Given the description of an element on the screen output the (x, y) to click on. 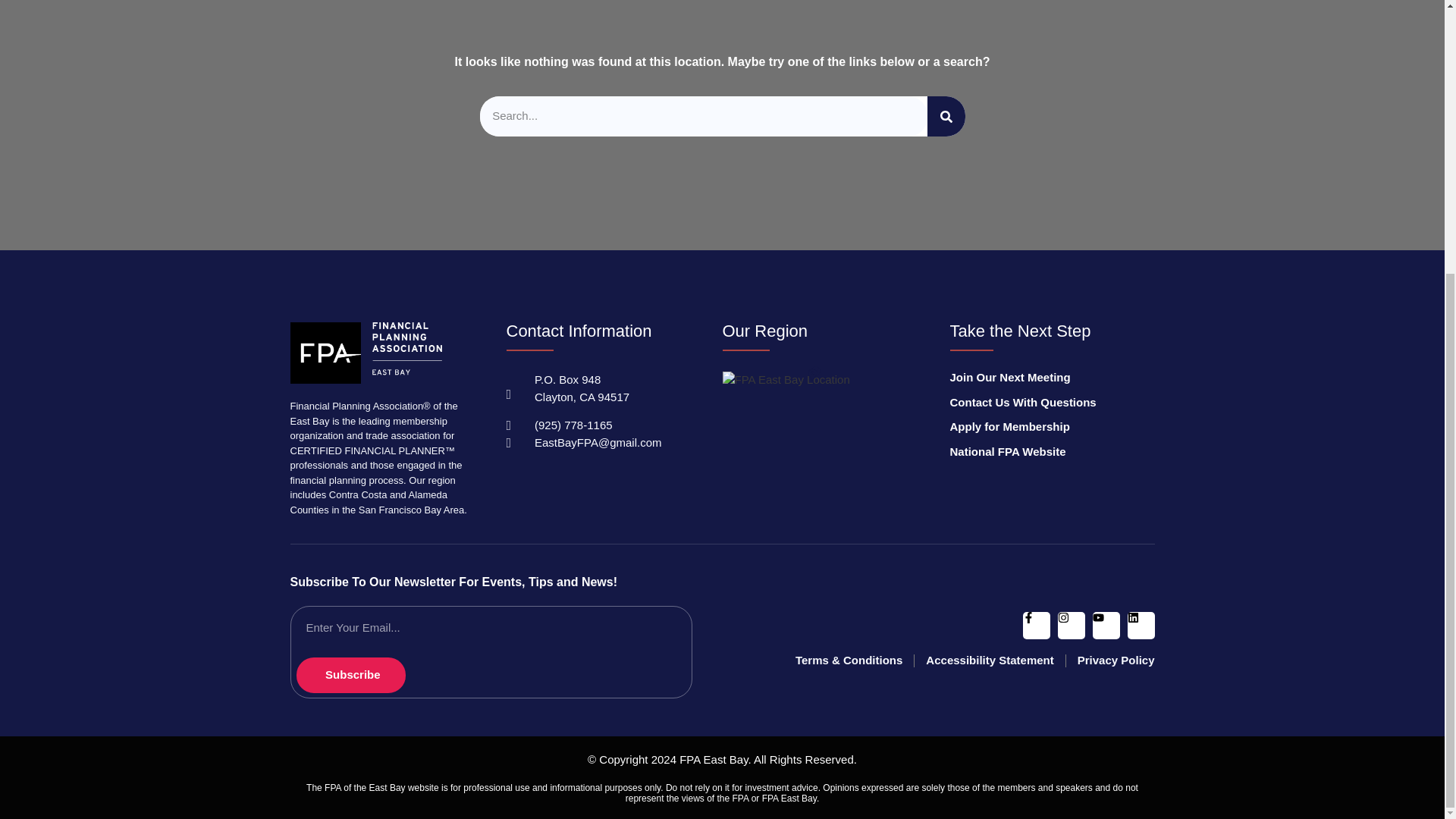
National FPA Website (1036, 451)
Contact Us With Questions (1036, 401)
FPA East Bay Location (785, 380)
Join Our Next Meeting (1036, 377)
Subscribe (350, 675)
Accessibility Statement (989, 660)
Apply for Membership (1036, 427)
